Given the description of an element on the screen output the (x, y) to click on. 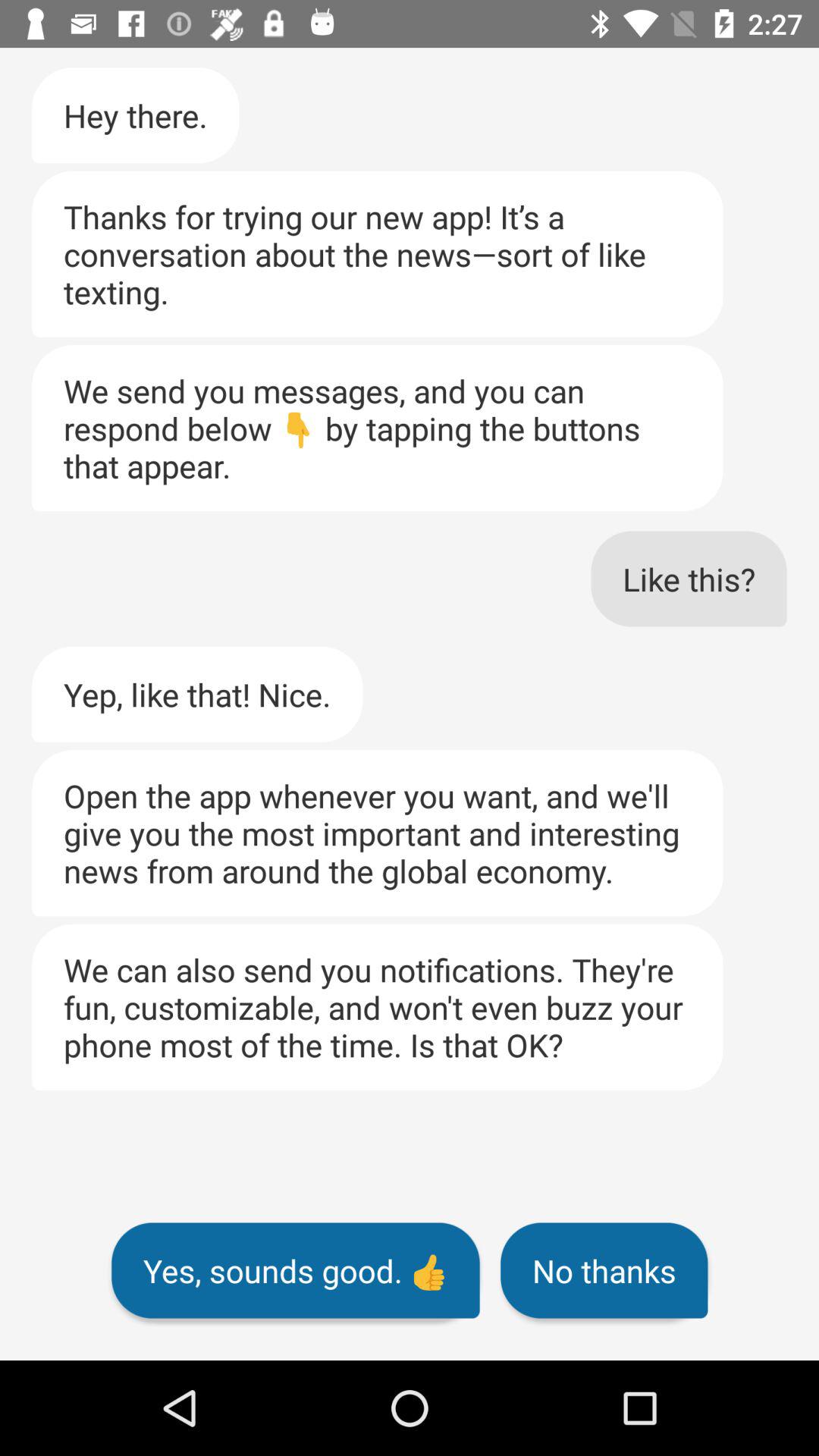
click the icon next to the no thanks item (295, 1270)
